Given the description of an element on the screen output the (x, y) to click on. 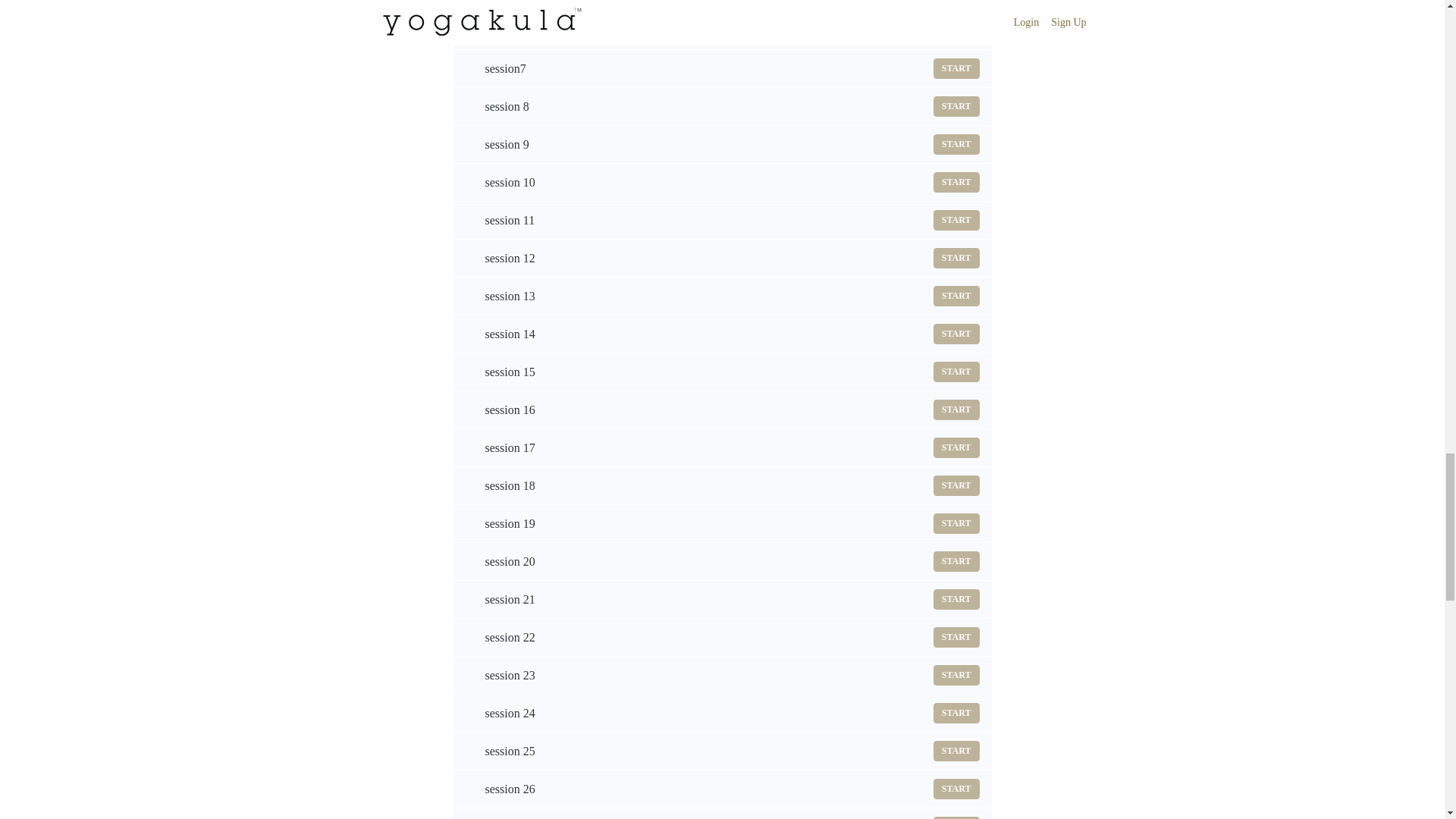
START (956, 447)
START (721, 447)
